Given the description of an element on the screen output the (x, y) to click on. 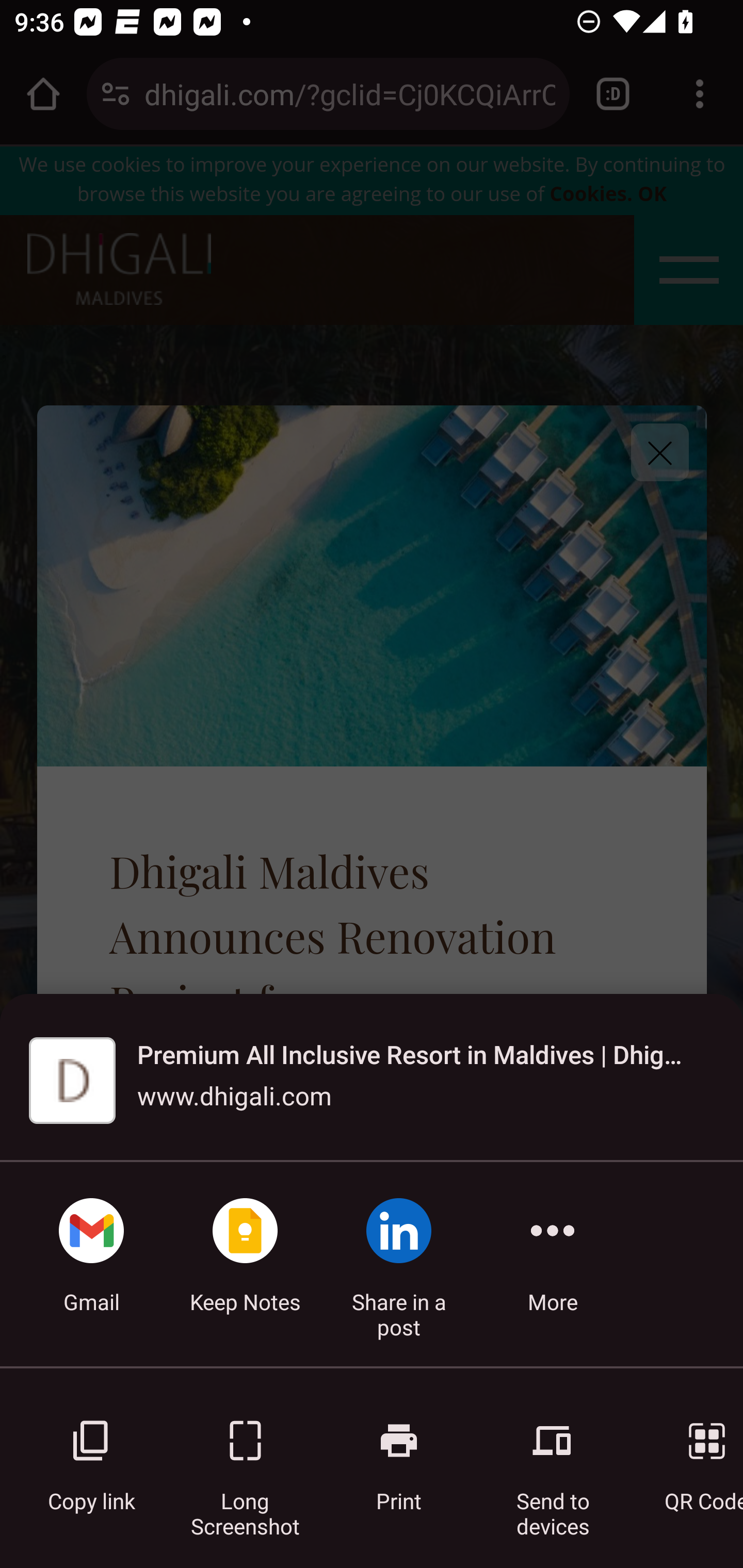
Open the home page (43, 93)
Connection is secure (115, 93)
Switch or close tabs (612, 93)
Customize and control Google Chrome (699, 93)
Gmail (90, 1263)
Keep Notes (244, 1263)
Share in a post (398, 1263)
More (552, 1263)
Copy link (90, 1454)
Long Screenshot (244, 1454)
Print (398, 1454)
Send to devices (552, 1454)
QR Code (693, 1454)
